Given the description of an element on the screen output the (x, y) to click on. 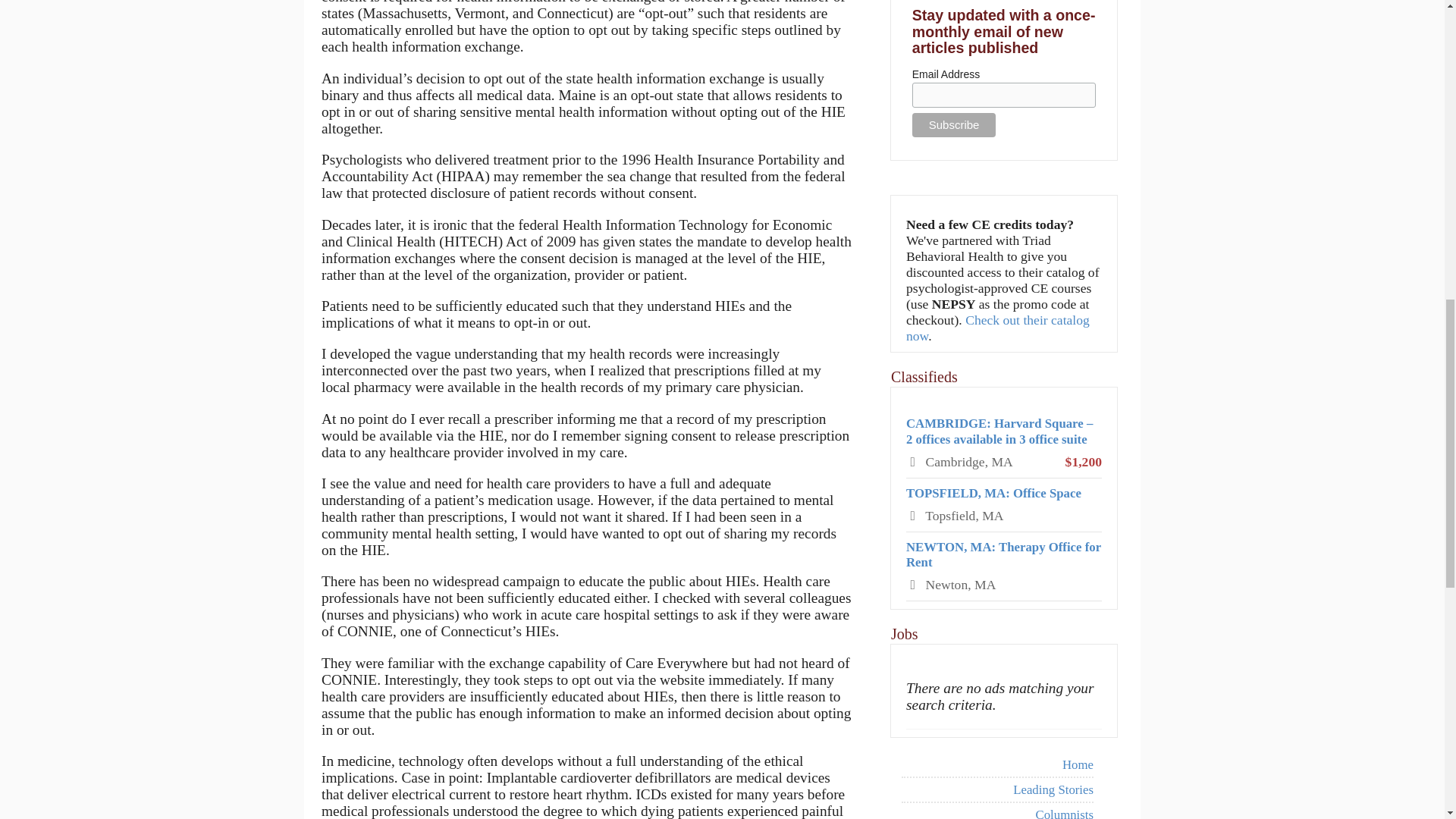
Subscribe (953, 125)
Check out their catalog now (997, 327)
Home (997, 765)
Subscribe (953, 125)
TOPSFIELD, MA: Office Space (993, 493)
NEWTON, MA: Therapy Office for Rent (1002, 554)
Columnists (997, 811)
Leading Stories (997, 790)
